Given the description of an element on the screen output the (x, y) to click on. 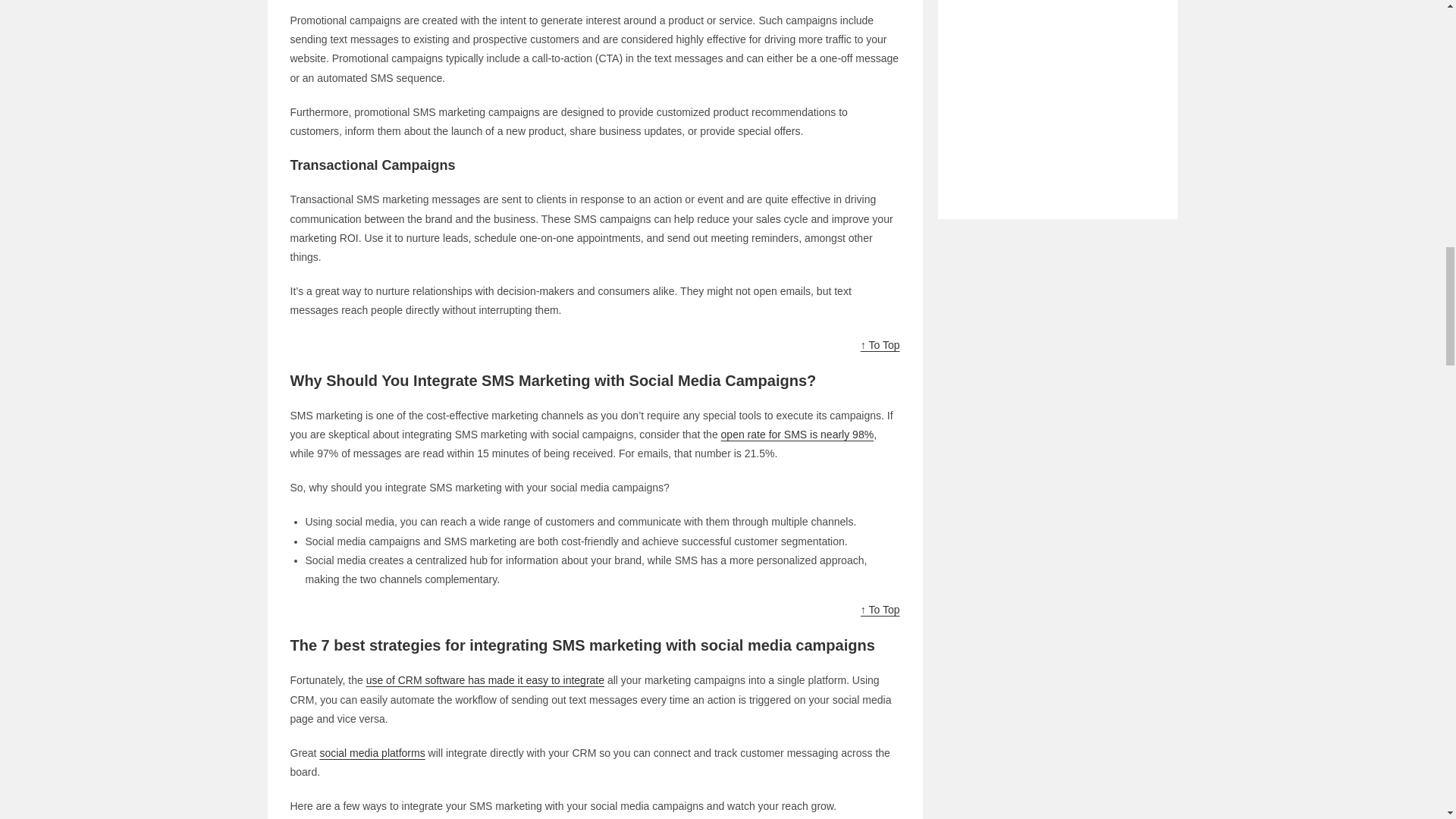
use of CRM software has made it easy to integrate (485, 680)
social media platforms (371, 752)
Advertisement (1056, 88)
